Given the description of an element on the screen output the (x, y) to click on. 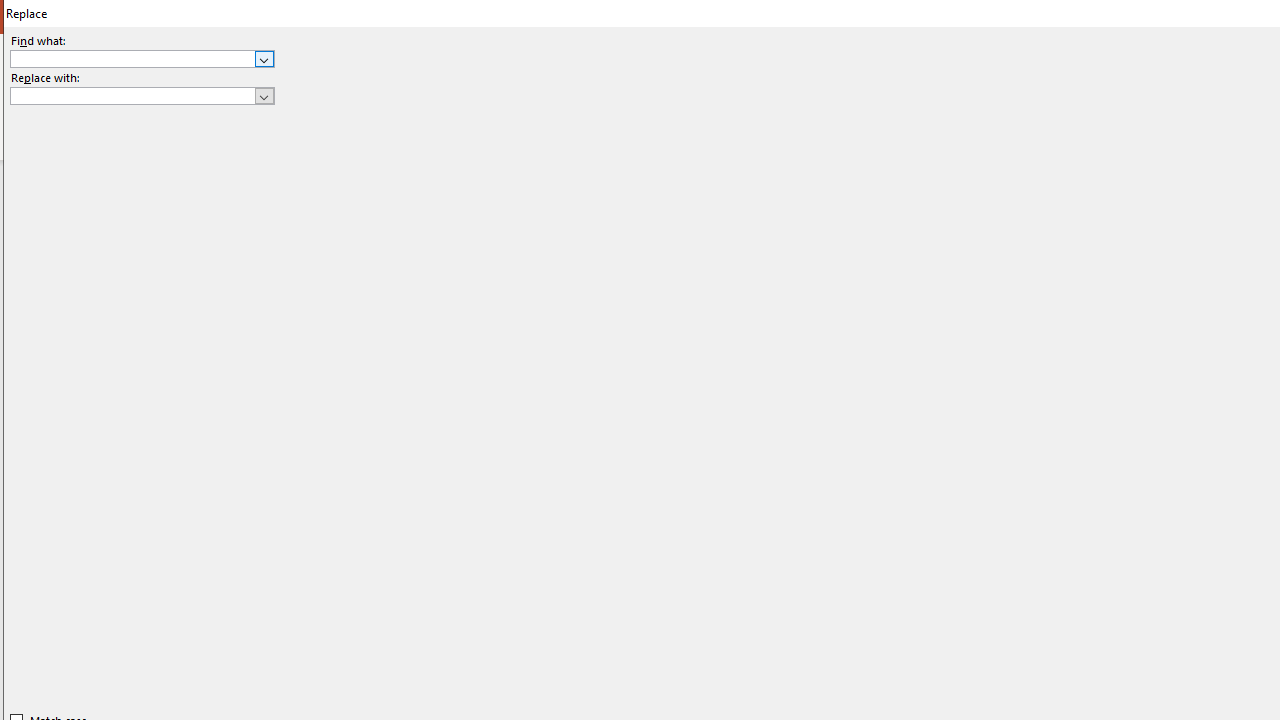
Replace with (132, 95)
Replace with (142, 96)
Open (263, 95)
Find what (142, 58)
Find what (132, 58)
